Given the description of an element on the screen output the (x, y) to click on. 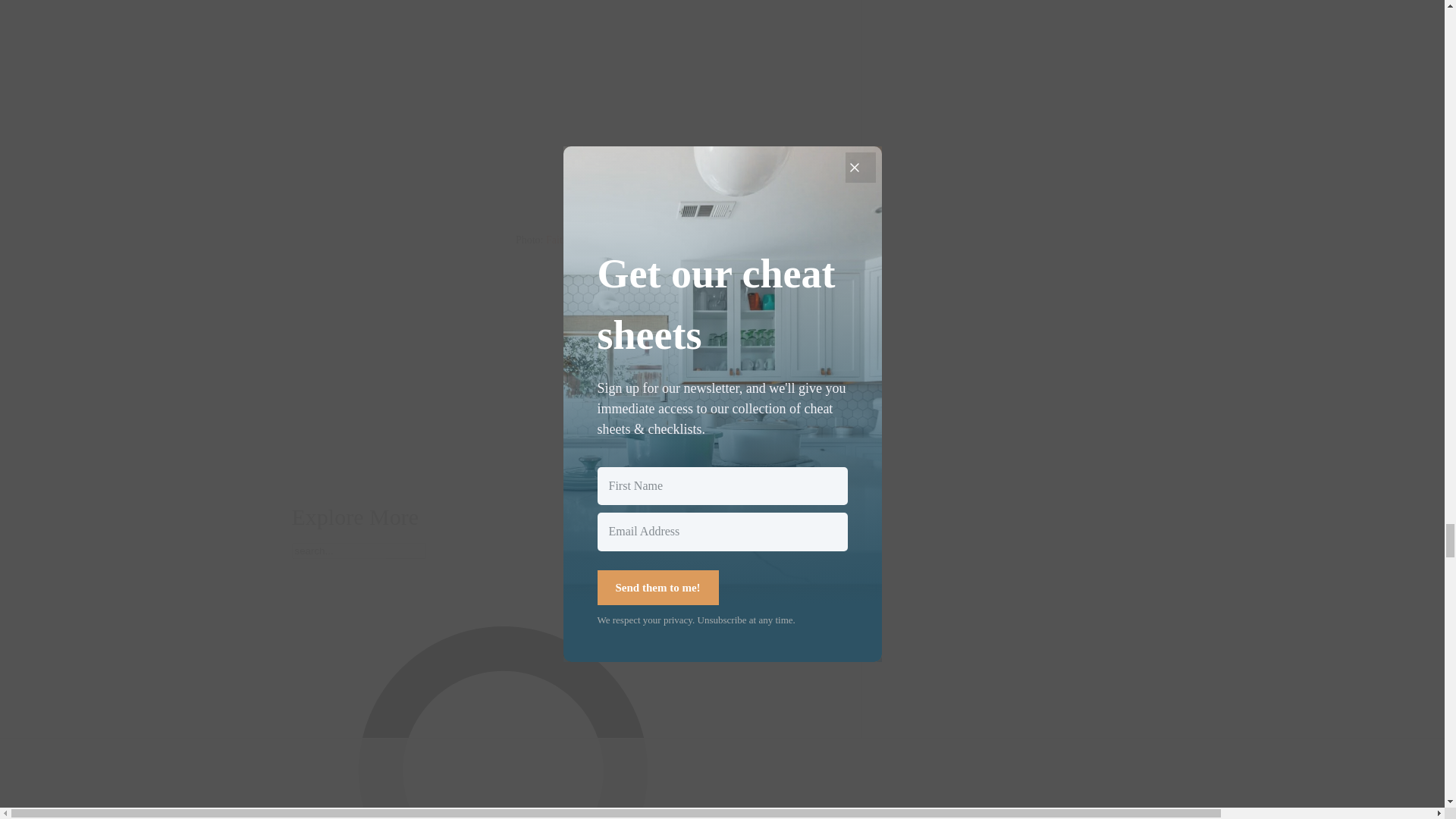
Faith Towers (573, 239)
